Given the description of an element on the screen output the (x, y) to click on. 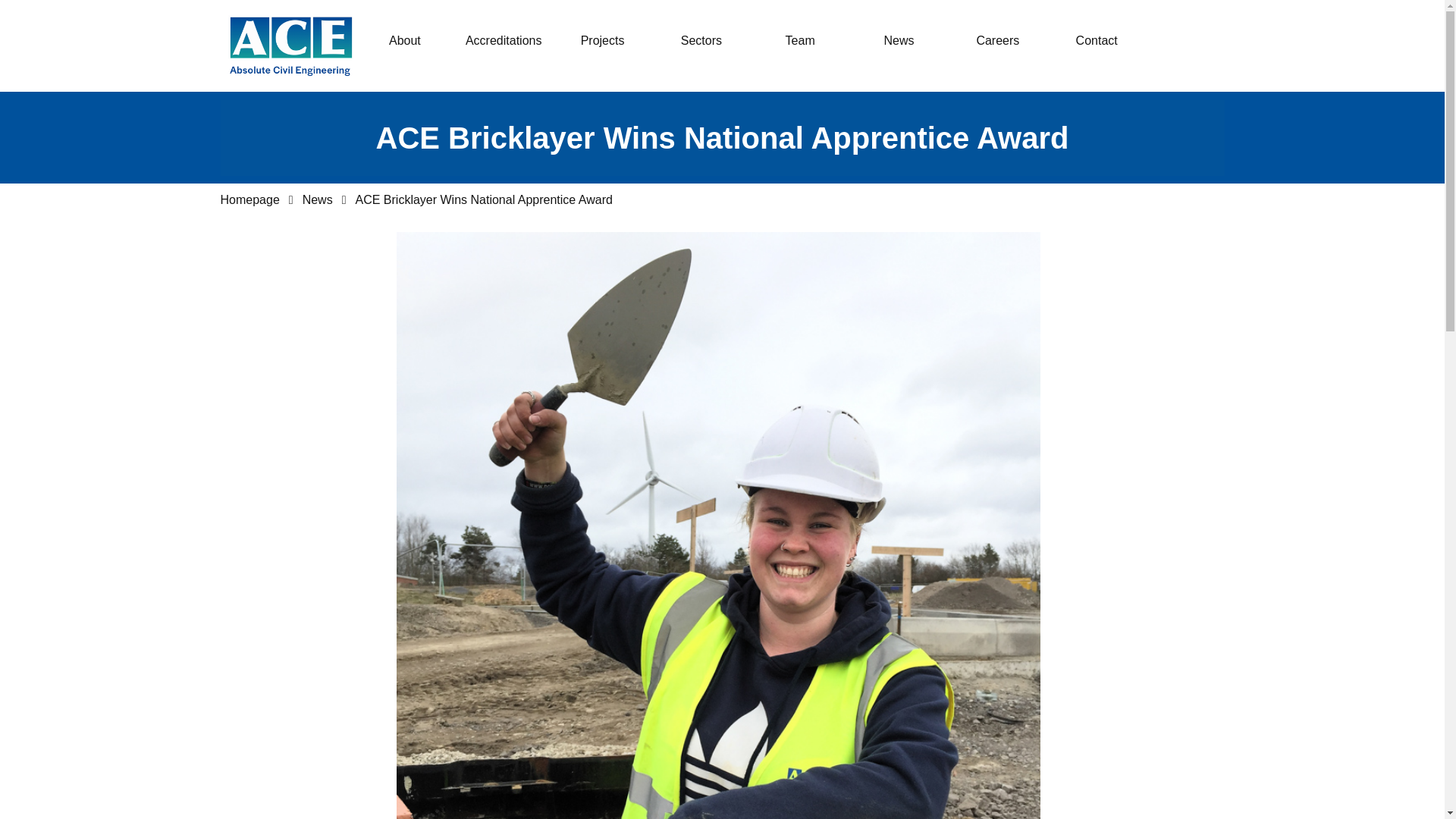
About (404, 40)
Team (798, 40)
News (317, 199)
Projects (602, 40)
Contact (1095, 40)
Careers (996, 40)
Accreditations (503, 40)
News (899, 40)
Sectors (701, 40)
Homepage (249, 199)
